Given the description of an element on the screen output the (x, y) to click on. 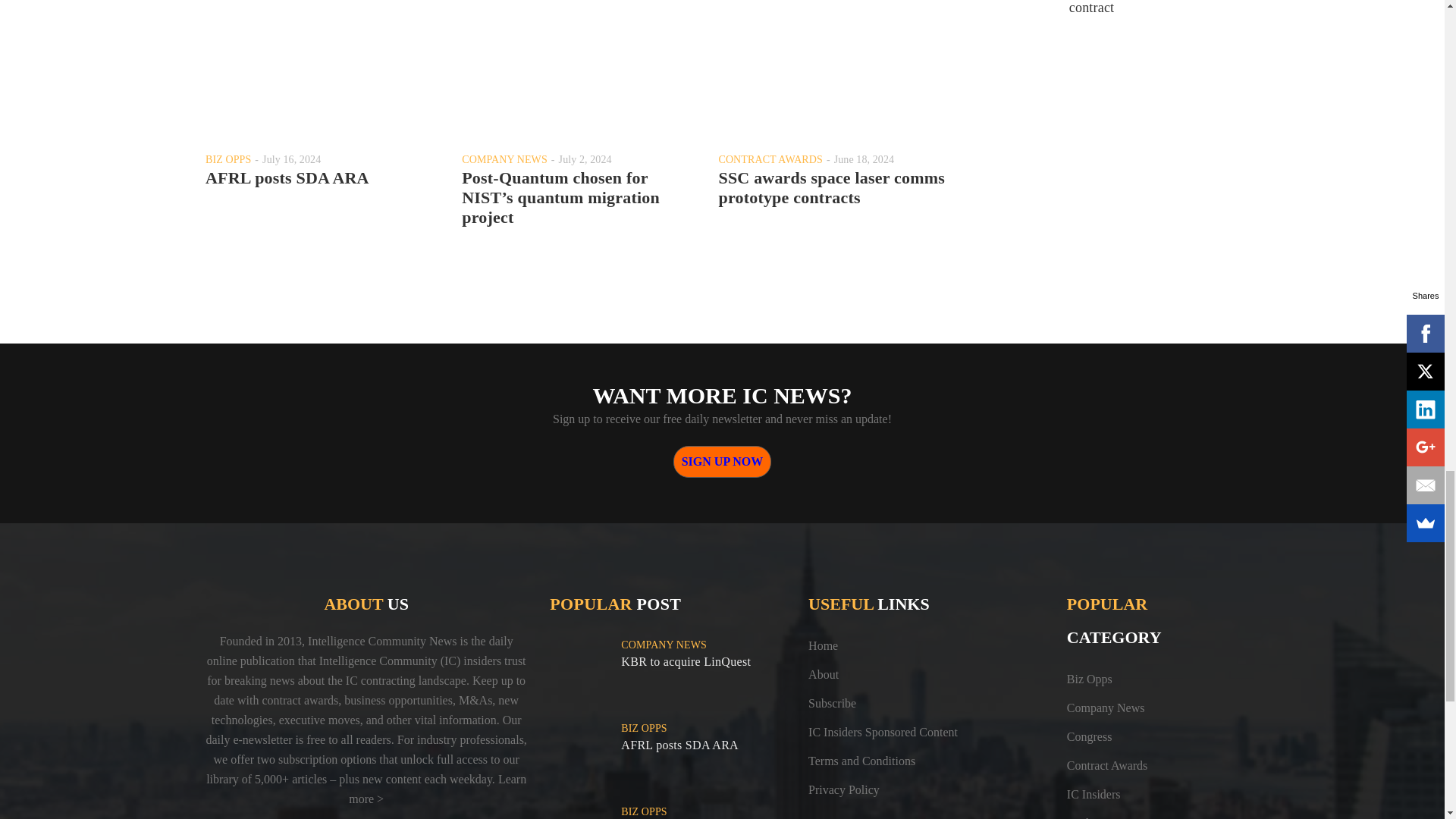
SSC awards space laser comms prototype contracts (830, 187)
AFRL posts SDA ARA (287, 177)
